Given the description of an element on the screen output the (x, y) to click on. 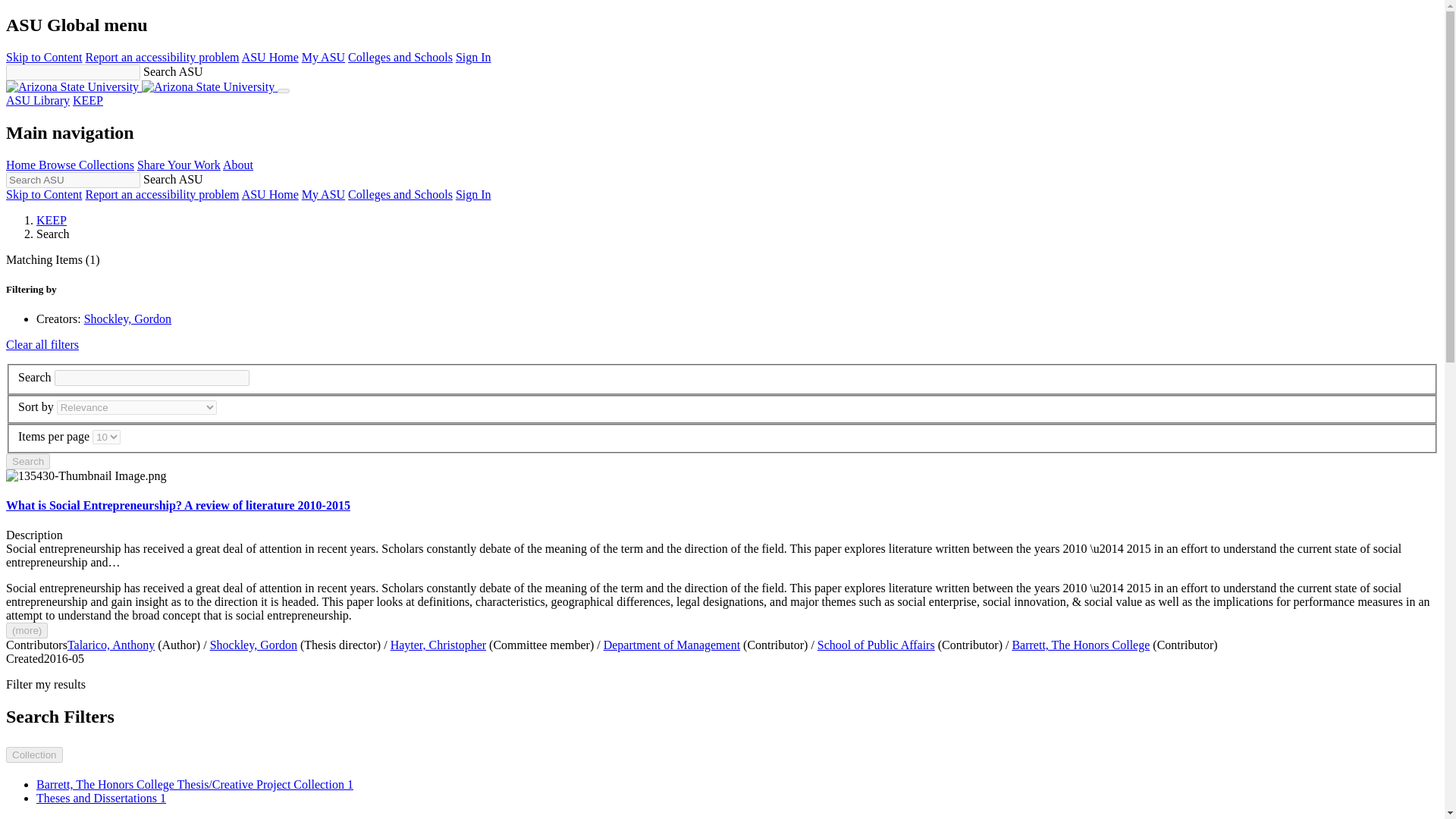
Report an accessibility problem (161, 56)
Screen reader link to the accessibility page (161, 194)
ASU Library (37, 100)
My ASU (323, 194)
Colleges and Schools (399, 194)
Skip to Content (43, 56)
KEEP (51, 219)
Clear all filters (41, 344)
Browse Collections (86, 164)
Home (22, 164)
Shockley, Gordon (253, 644)
My ASU (323, 56)
Search ASU (72, 179)
Share Your Work (178, 164)
Clear all filters (41, 344)
